Given the description of an element on the screen output the (x, y) to click on. 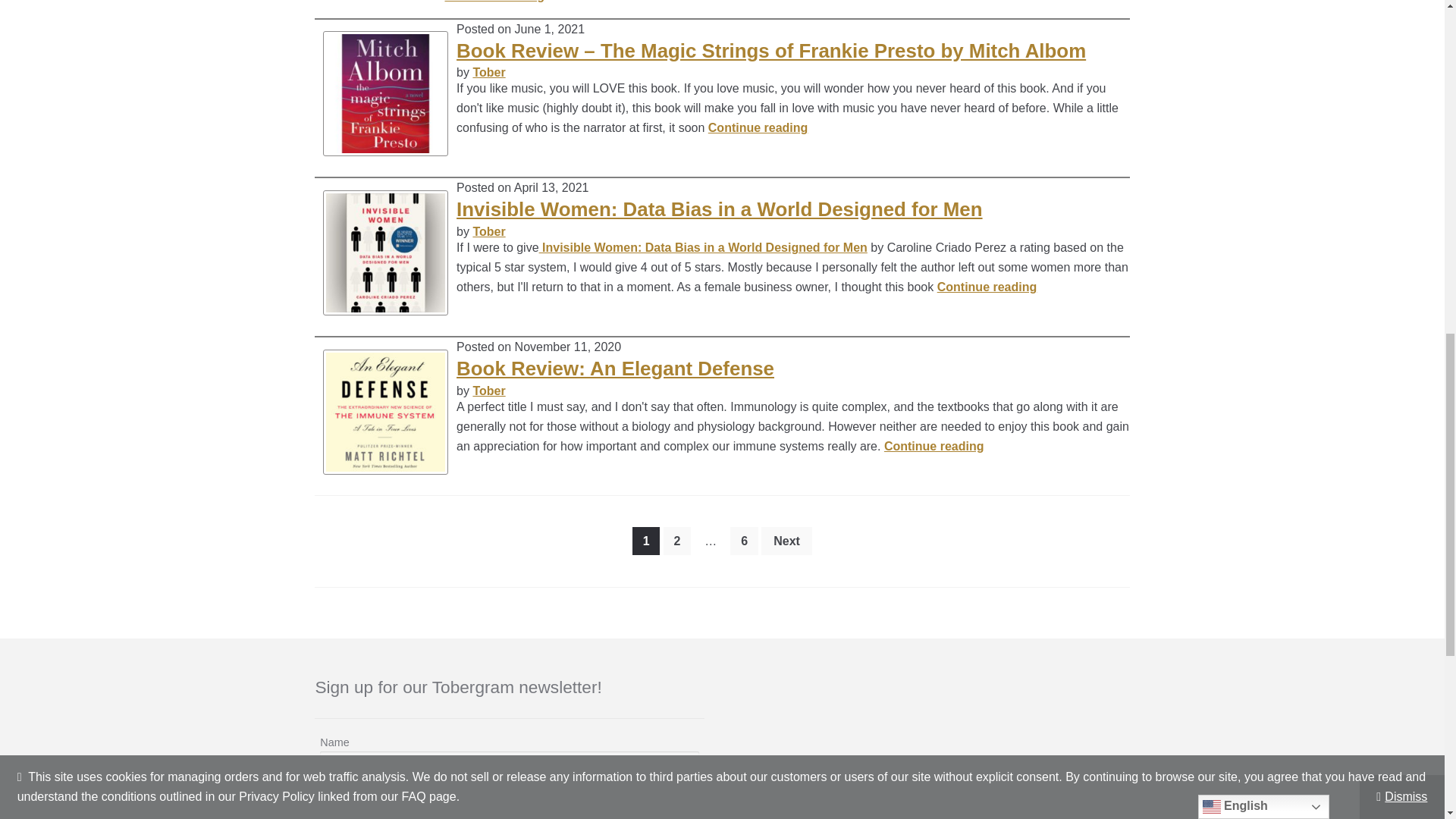
Posts by Tober (488, 390)
Posts by Tober (488, 72)
Posts by Tober (488, 231)
